Given the description of an element on the screen output the (x, y) to click on. 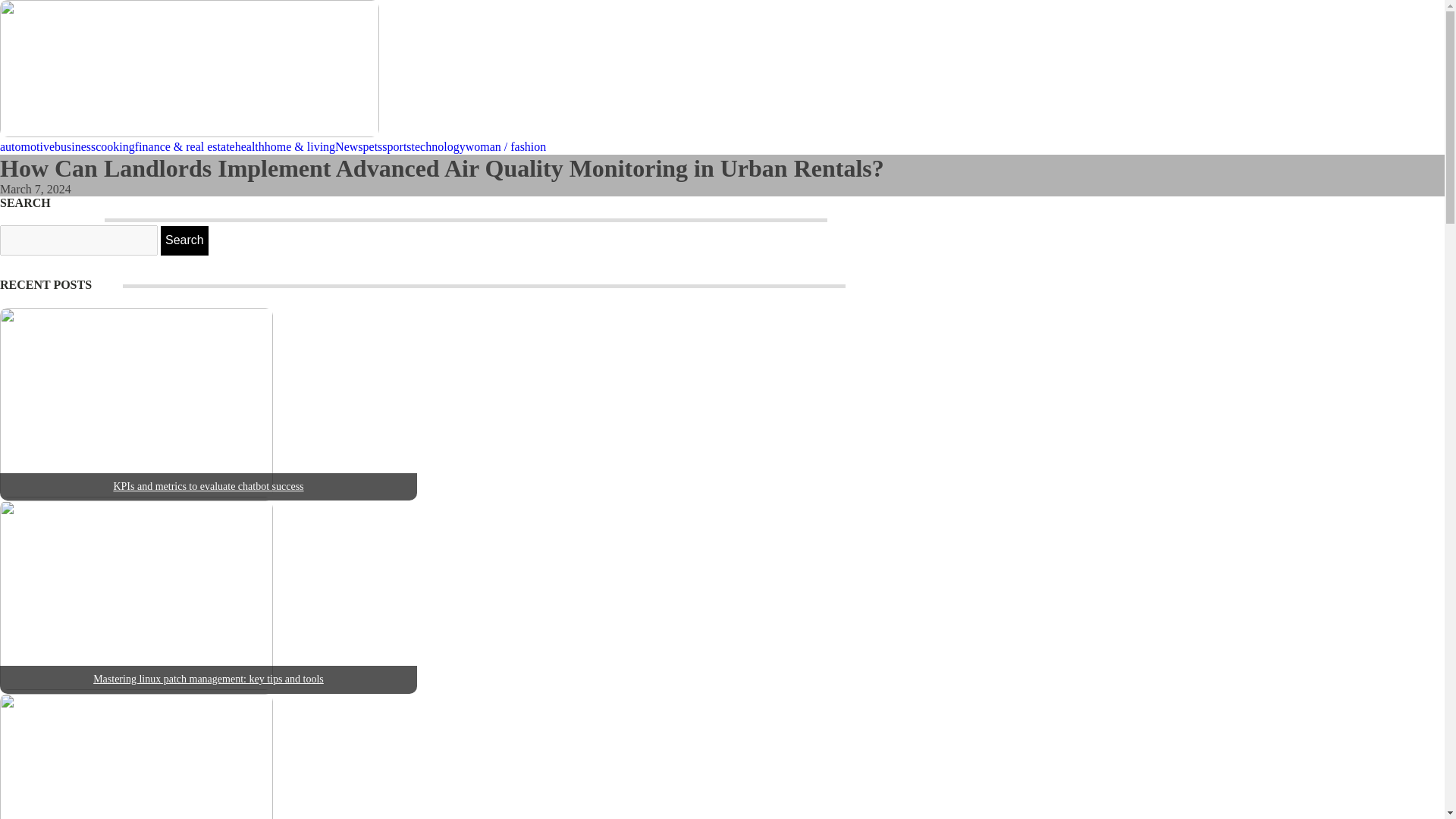
business (75, 146)
technology (438, 146)
automotive (27, 146)
sports (395, 146)
health (249, 146)
KPIs and metrics to evaluate chatbot success (207, 486)
Search (184, 240)
pets (372, 146)
Search (184, 240)
cooking (115, 146)
